Given the description of an element on the screen output the (x, y) to click on. 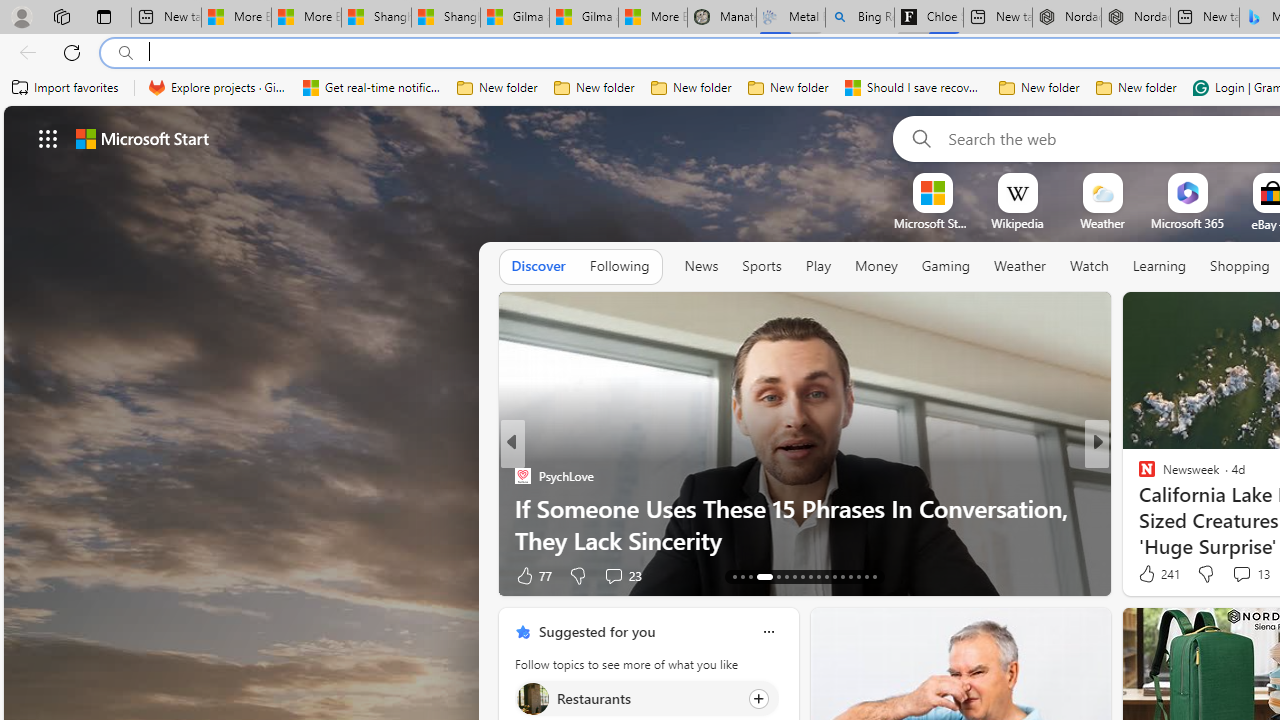
Bing Real Estate - Home sales and rental listings (859, 17)
Business Insider (1138, 475)
AutomationID: tab-18 (786, 576)
955 Like (1151, 574)
AutomationID: tab-23 (825, 576)
View comments 18 Comment (1234, 575)
Wikipedia (1017, 223)
